Given the description of an element on the screen output the (x, y) to click on. 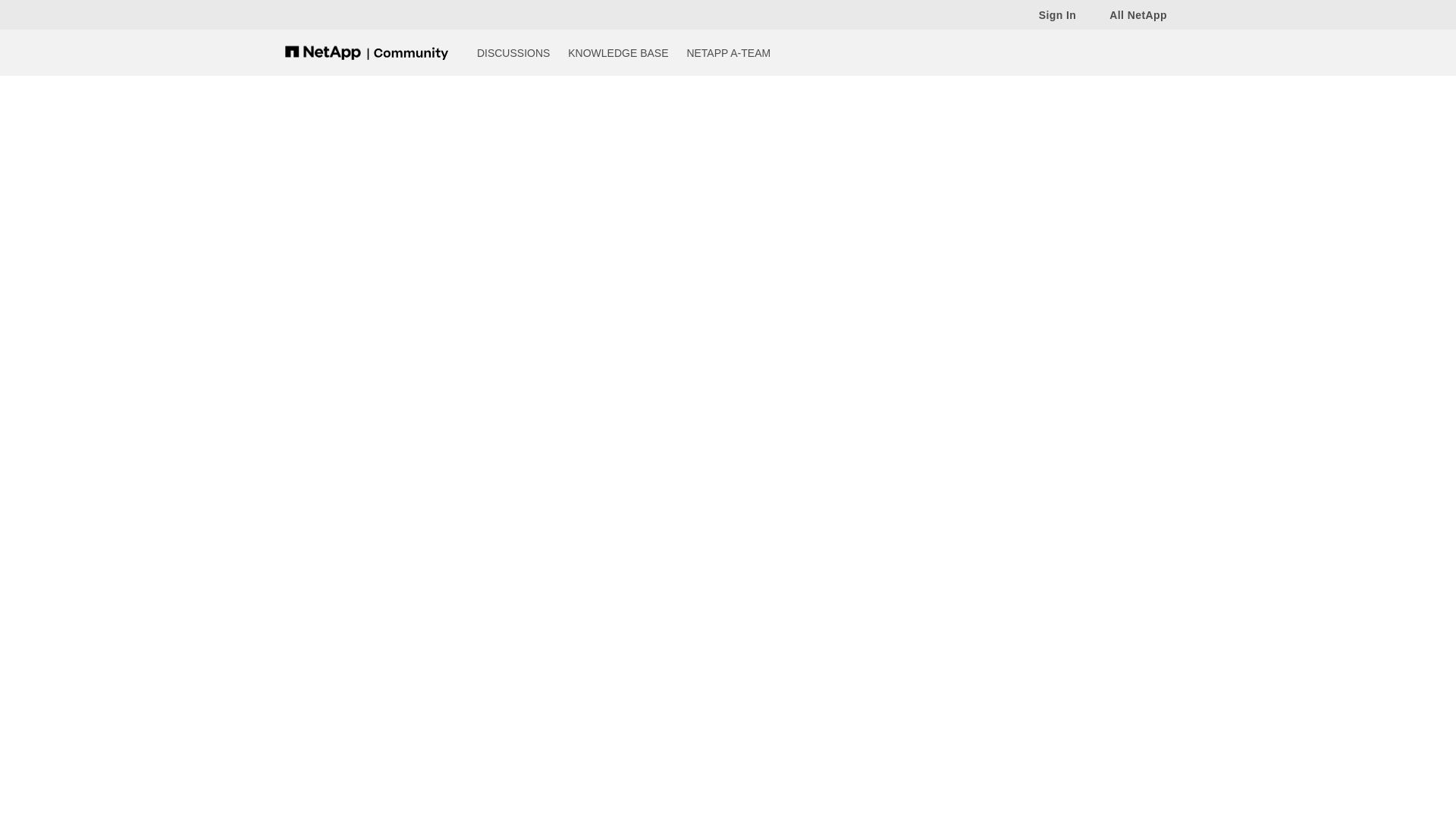
KNOWLEDGE BASE (617, 52)
All NetApp (1130, 14)
Sign In (1050, 14)
DISCUSSIONS (513, 52)
All NetApp (1130, 14)
NETAPP A-TEAM (727, 52)
